Given the description of an element on the screen output the (x, y) to click on. 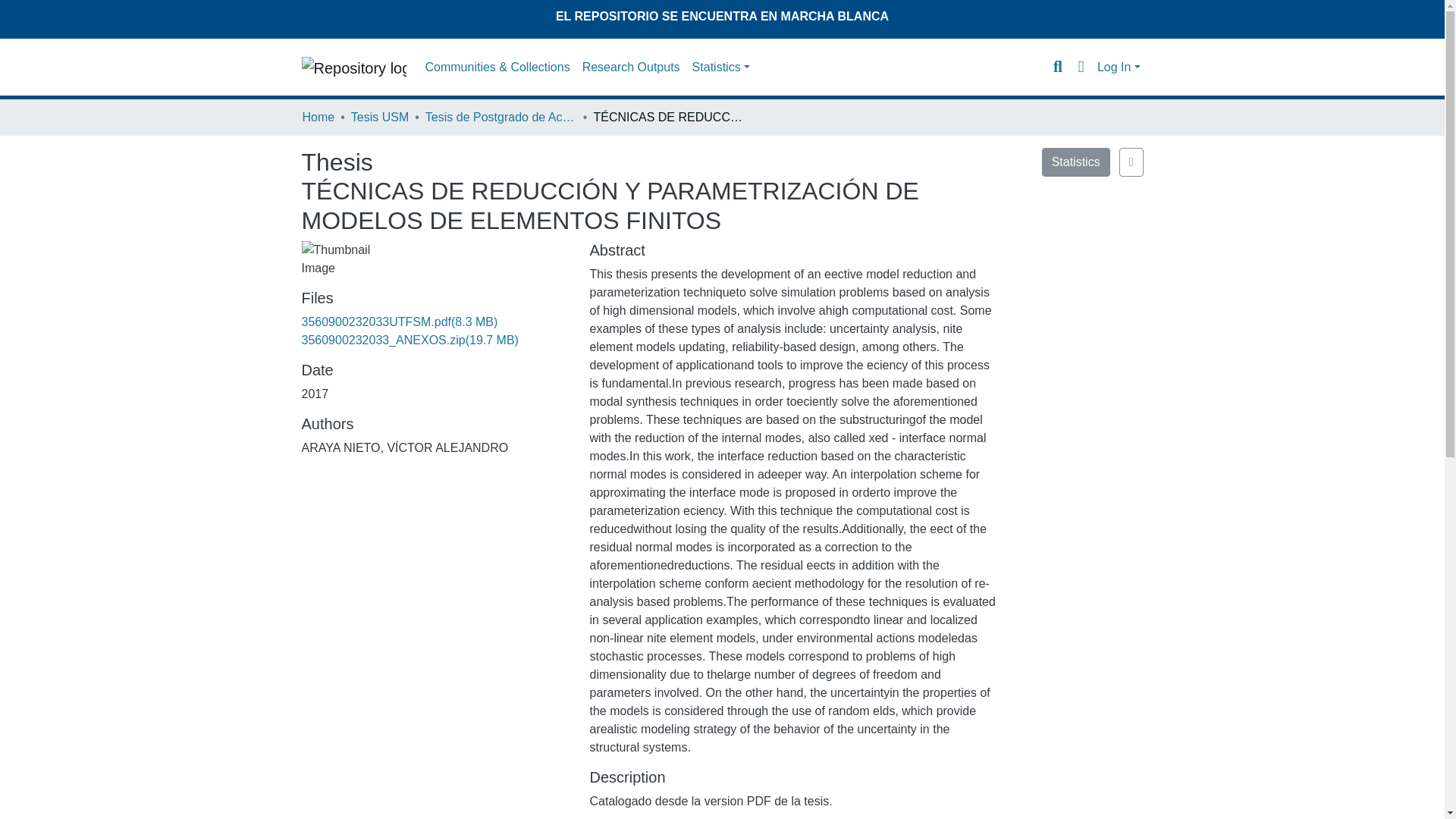
Log In (1118, 66)
Search (1058, 67)
Language switch (1080, 67)
Statistics (1075, 162)
Research Outputs (630, 67)
Statistics (720, 67)
Tesis de Postgrado de Acceso Abierto (500, 117)
Research Outputs (630, 67)
Home (317, 117)
Tesis USM (379, 117)
